Given the description of an element on the screen output the (x, y) to click on. 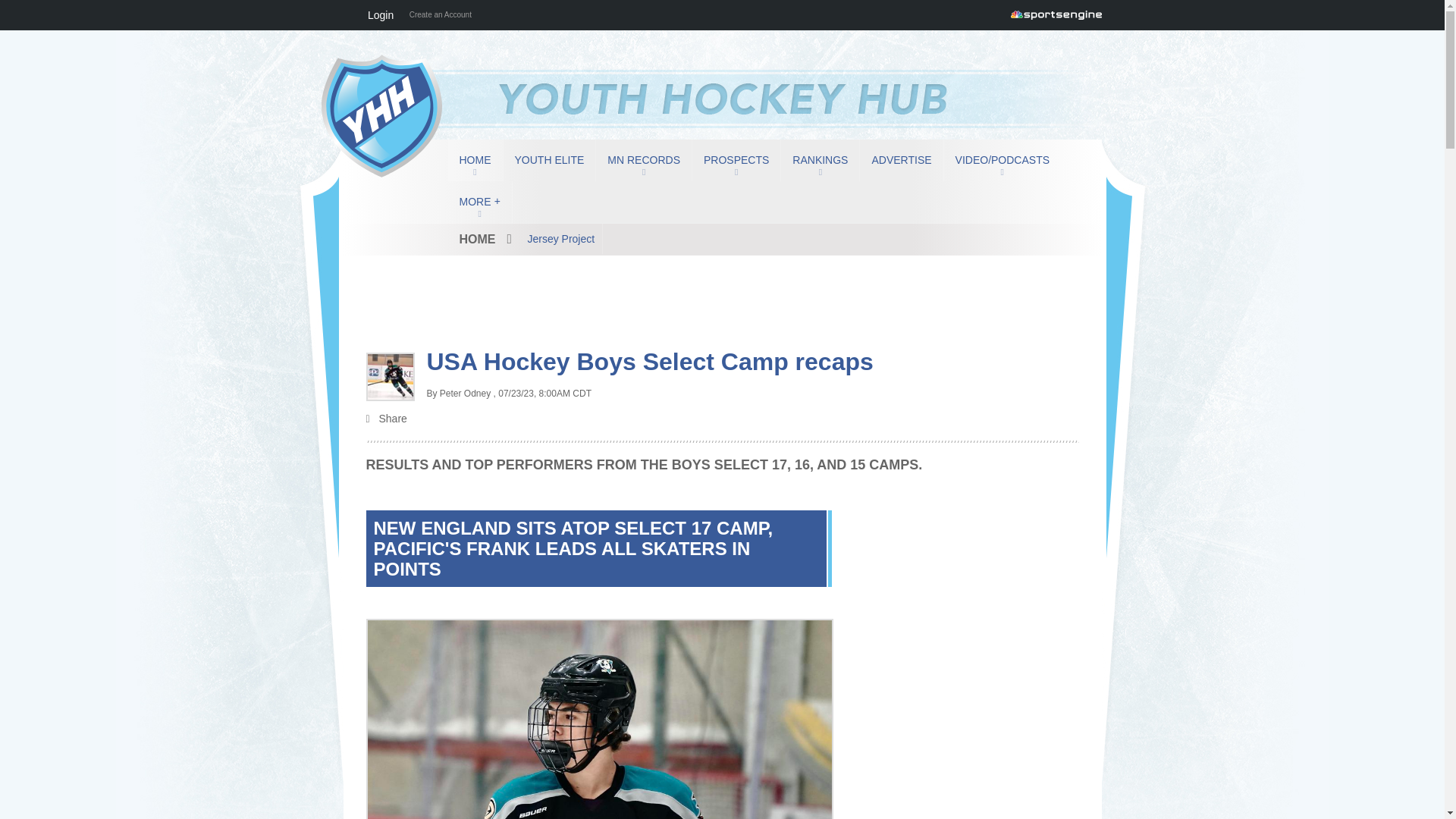
RANKINGS (819, 159)
Login (379, 15)
Share (721, 419)
Create an Account (440, 15)
YOUTH ELITE (549, 159)
ADVERTISE (901, 159)
HOME (474, 159)
PROSPECTS (736, 159)
Login (379, 15)
click to go to 'NOW PROSPECTS' (736, 159)
Jersey Project (560, 238)
3rd party ad content (721, 268)
click to go to 'Advertise' (901, 159)
MORE (478, 201)
Create an Account (440, 15)
